Given the description of an element on the screen output the (x, y) to click on. 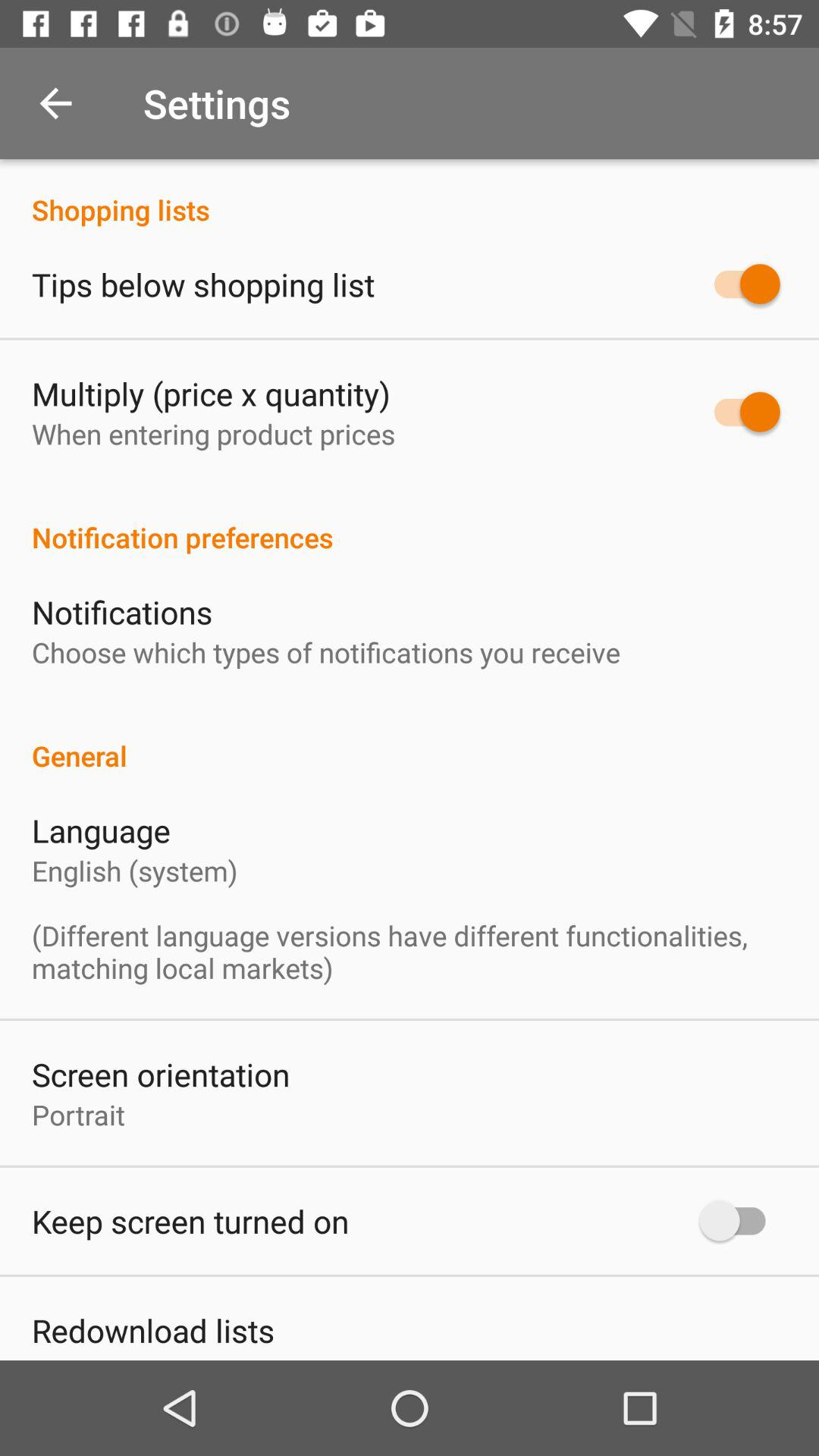
open the item below the notifications item (325, 652)
